Given the description of an element on the screen output the (x, y) to click on. 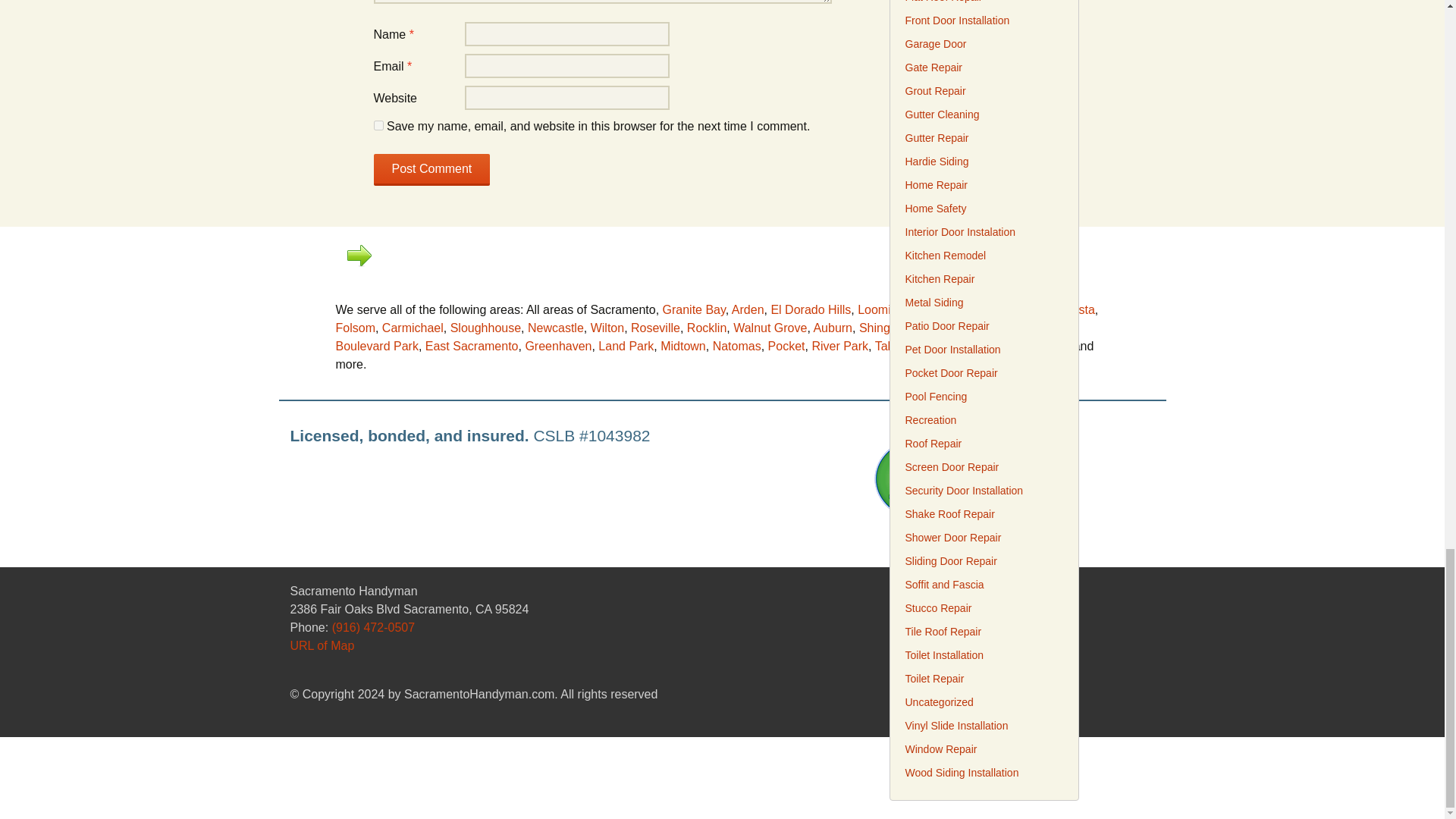
Twitter (1144, 628)
Post Comment (430, 169)
yes (377, 125)
Facebook (1118, 628)
RSS (1093, 628)
